Given the description of an element on the screen output the (x, y) to click on. 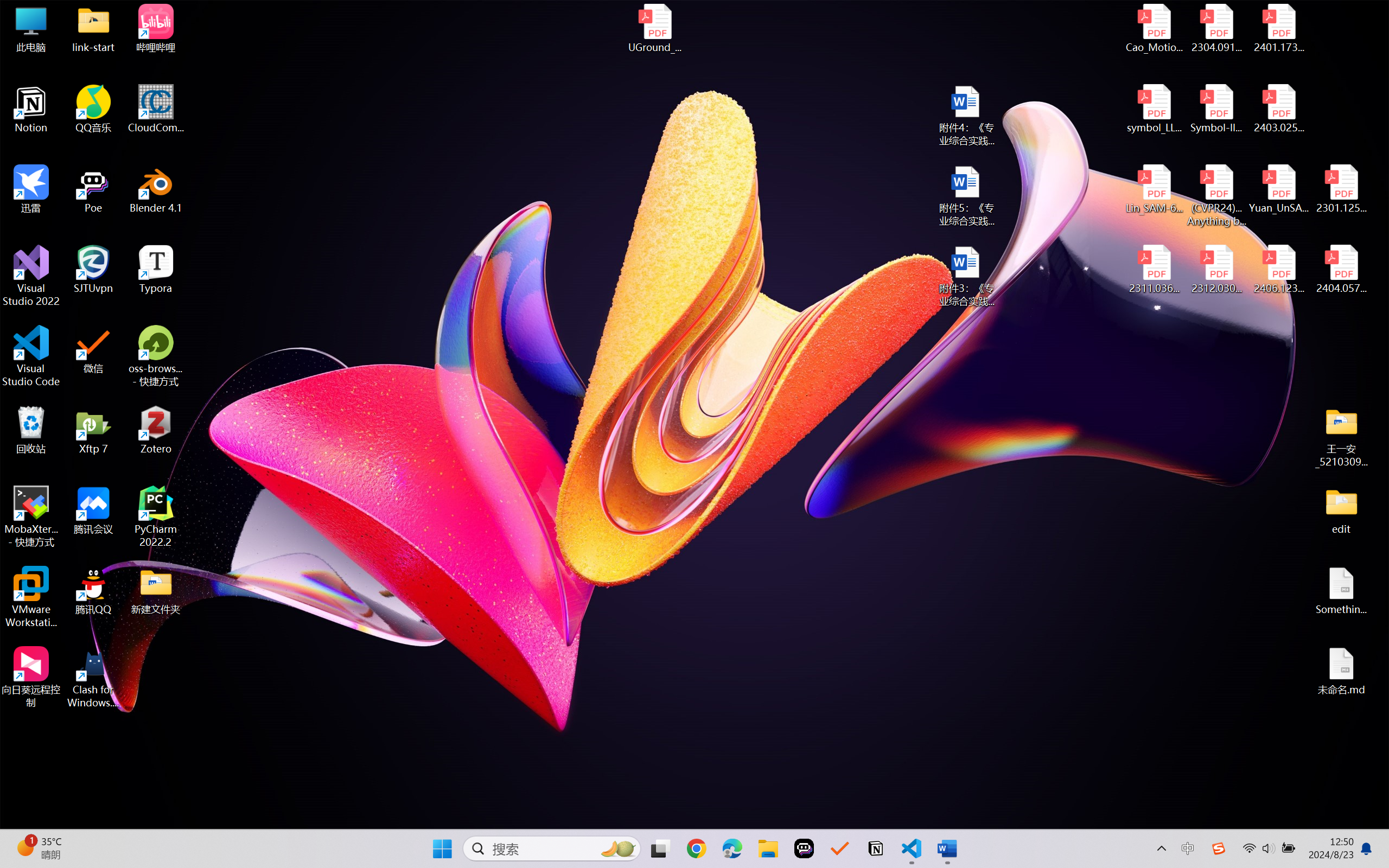
VMware Workstation Pro (31, 597)
Microsoft Edge (731, 848)
Something.md (1340, 591)
PyCharm 2022.2 (156, 516)
2304.09121v3.pdf (1216, 28)
